Given the description of an element on the screen output the (x, y) to click on. 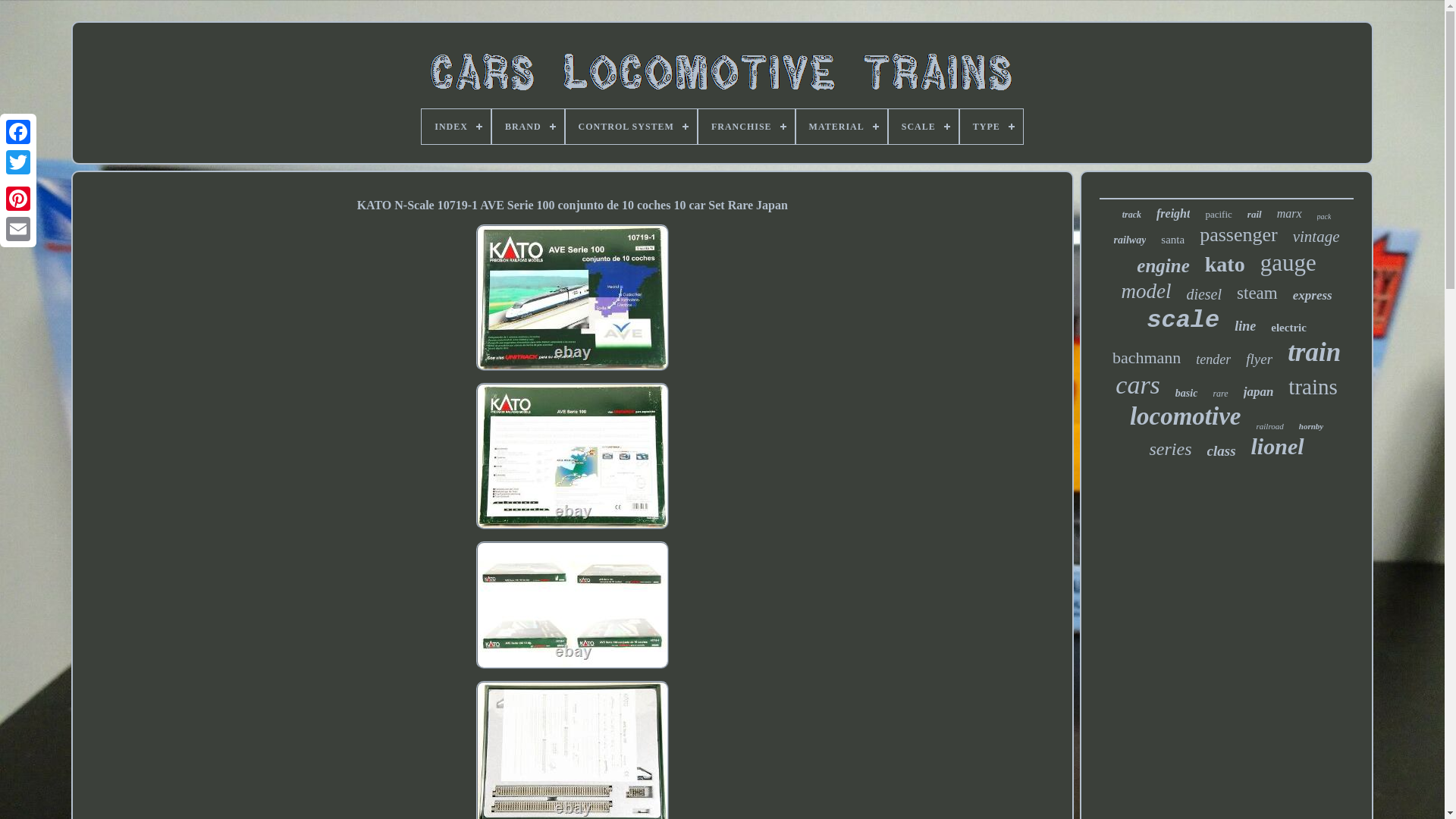
INDEX (456, 126)
BRAND (528, 126)
CONTROL SYSTEM (631, 126)
